Given the description of an element on the screen output the (x, y) to click on. 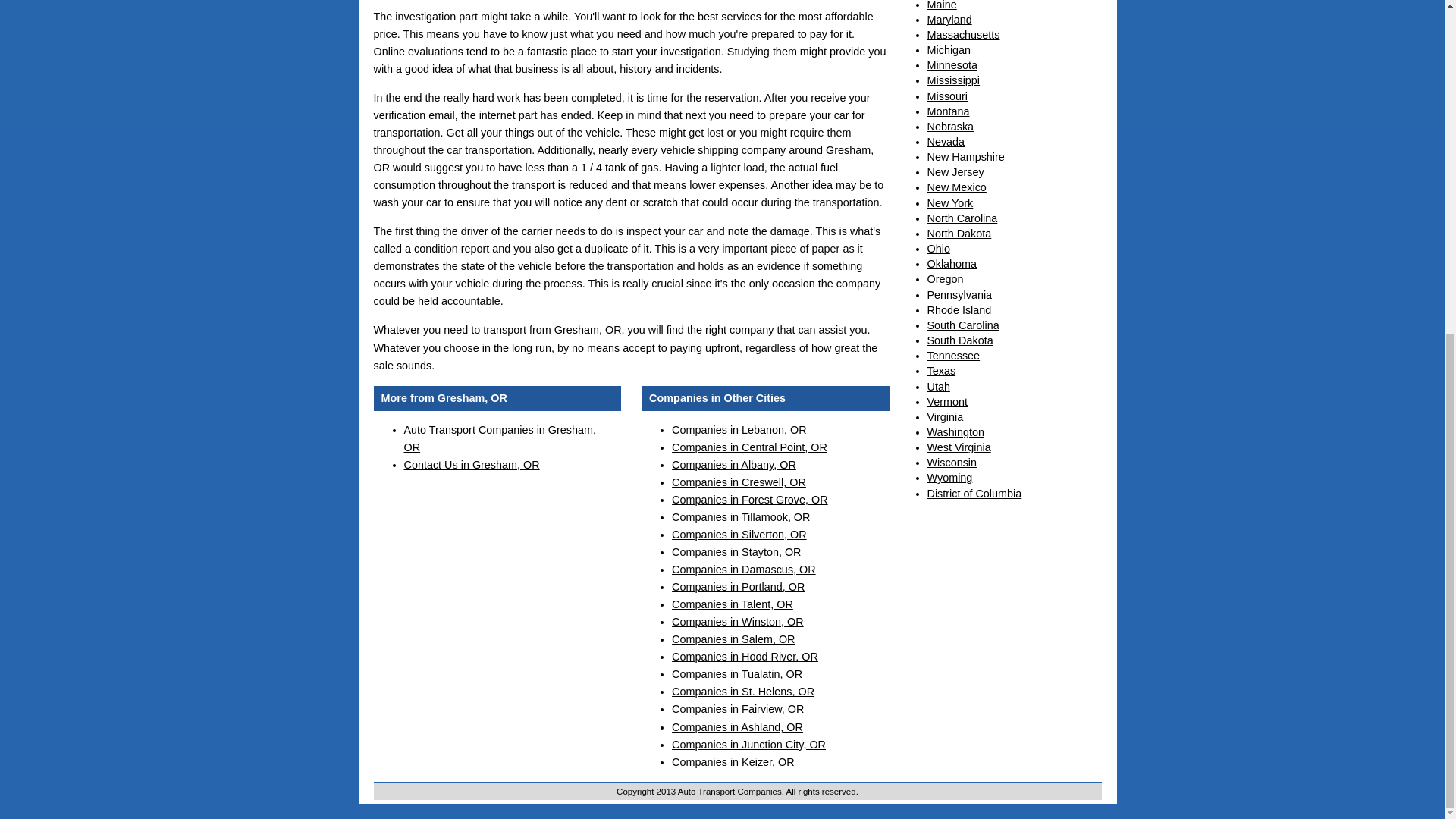
Companies in Silverton, OR (738, 534)
Companies in Damascus, OR (743, 569)
Companies in Keizer, OR (732, 761)
Companies in Lebanon, OR (738, 429)
Companies in Albany, OR (733, 464)
Companies in Winston, OR (737, 621)
Auto Transport Companies in Gresham, OR (499, 438)
Companies in Ashland, OR (737, 727)
Companies in Stayton, OR (735, 551)
Companies in Central Point, OR (749, 447)
